Given the description of an element on the screen output the (x, y) to click on. 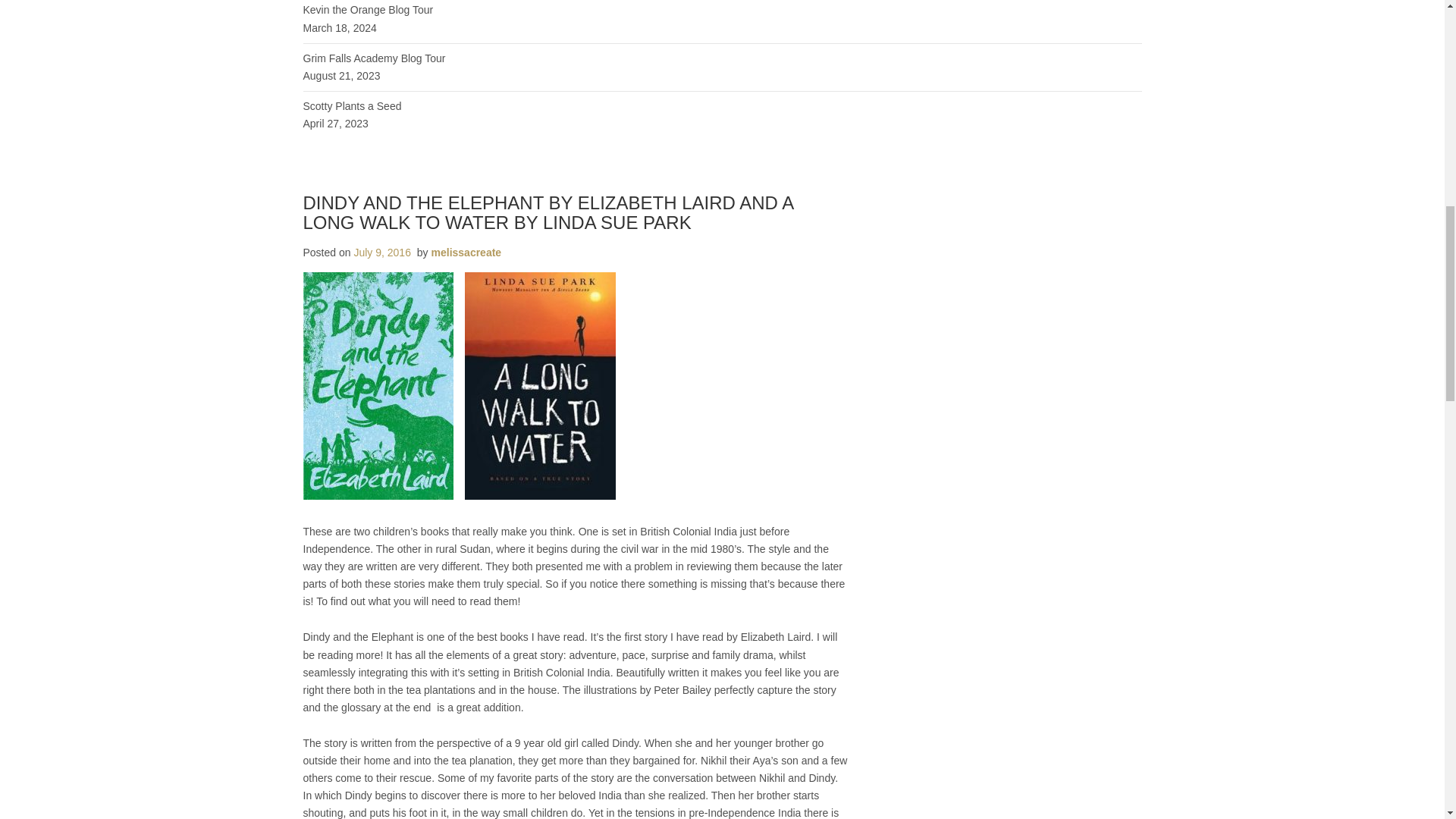
July 9, 2016 (381, 252)
melissacreate (466, 252)
Scotty Plants a Seed (351, 105)
Grim Falls Academy Blog Tour (373, 58)
Kevin the Orange Blog Tour (367, 9)
